Given the description of an element on the screen output the (x, y) to click on. 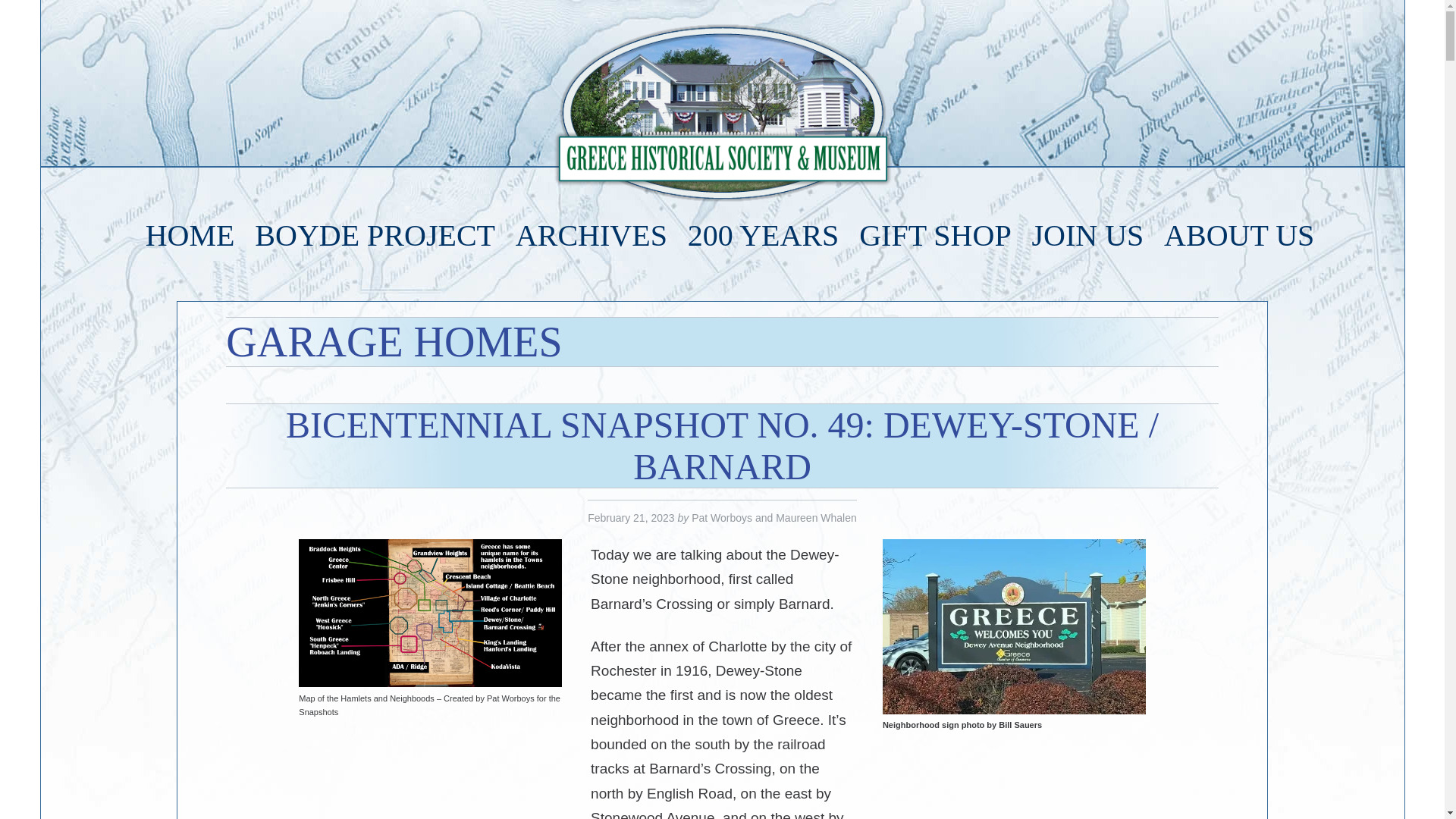
February 21, 2023 (631, 517)
GIFT SHOP (934, 235)
BOYDE PROJECT (374, 235)
ARCHIVES (590, 235)
ABOUT US (1238, 235)
Pat Worboys and Maureen Whalen (774, 517)
JOIN US (1087, 235)
HOME (190, 235)
200 YEARS (763, 235)
